Given the description of an element on the screen output the (x, y) to click on. 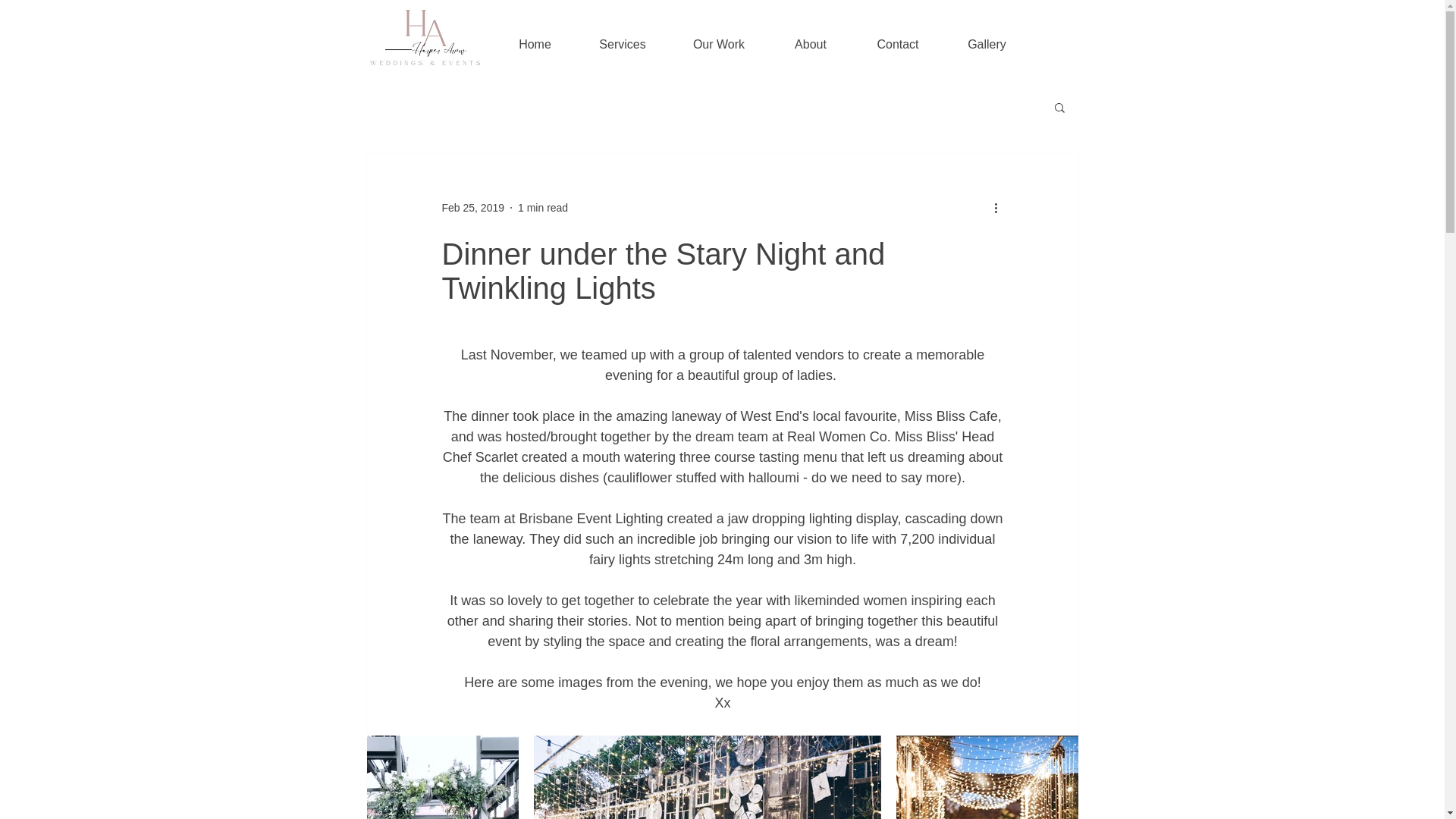
Services (622, 37)
Our Work (719, 37)
Gallery (986, 37)
Feb 25, 2019 (472, 207)
1 min read (542, 207)
About (809, 37)
Home (534, 37)
Contact (897, 37)
